Given the description of an element on the screen output the (x, y) to click on. 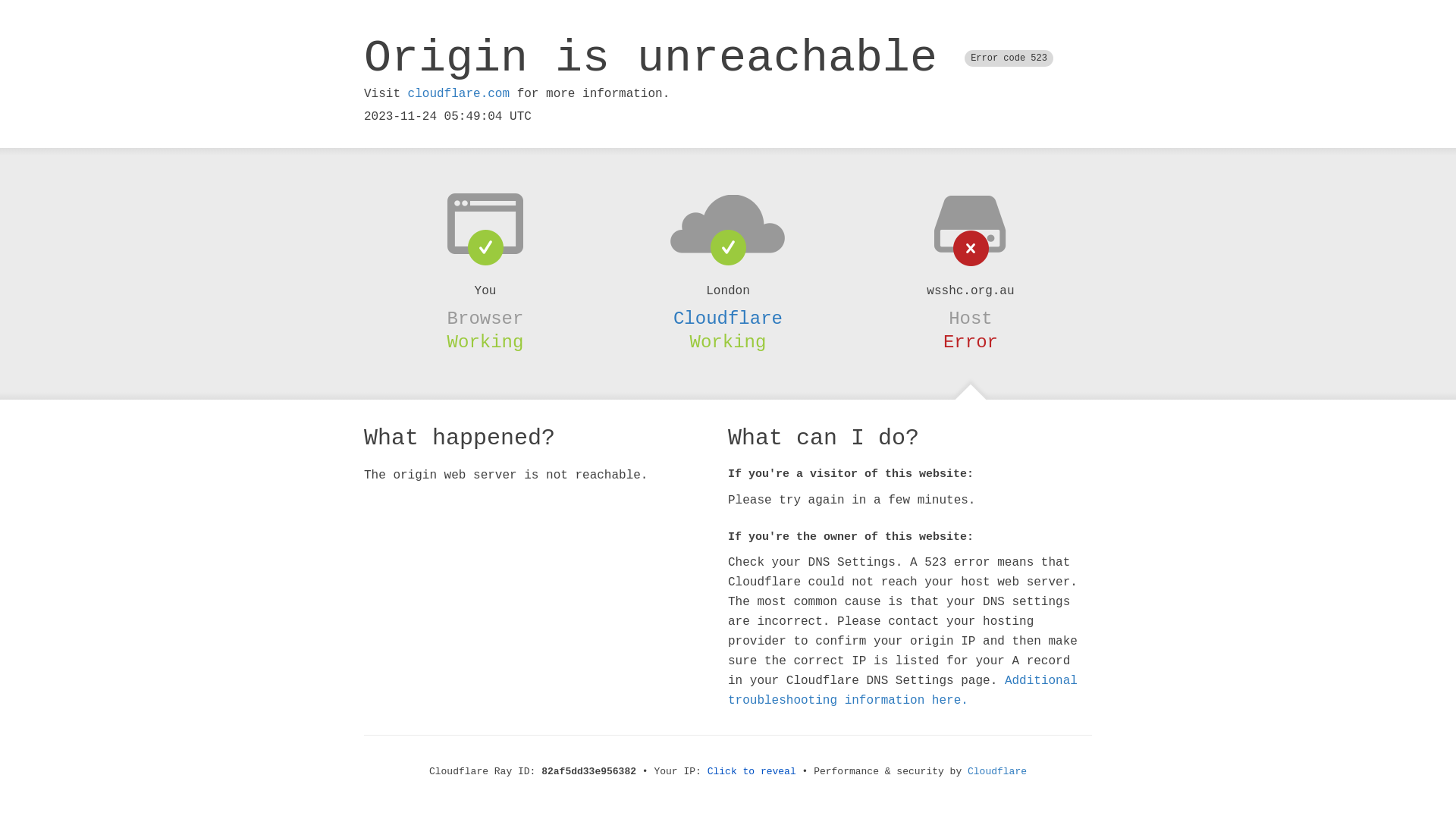
cloudflare.com Element type: text (458, 93)
Cloudflare Element type: text (727, 318)
Cloudflare Element type: text (996, 771)
Additional troubleshooting information here. Element type: text (902, 690)
Click to reveal Element type: text (751, 771)
